Given the description of an element on the screen output the (x, y) to click on. 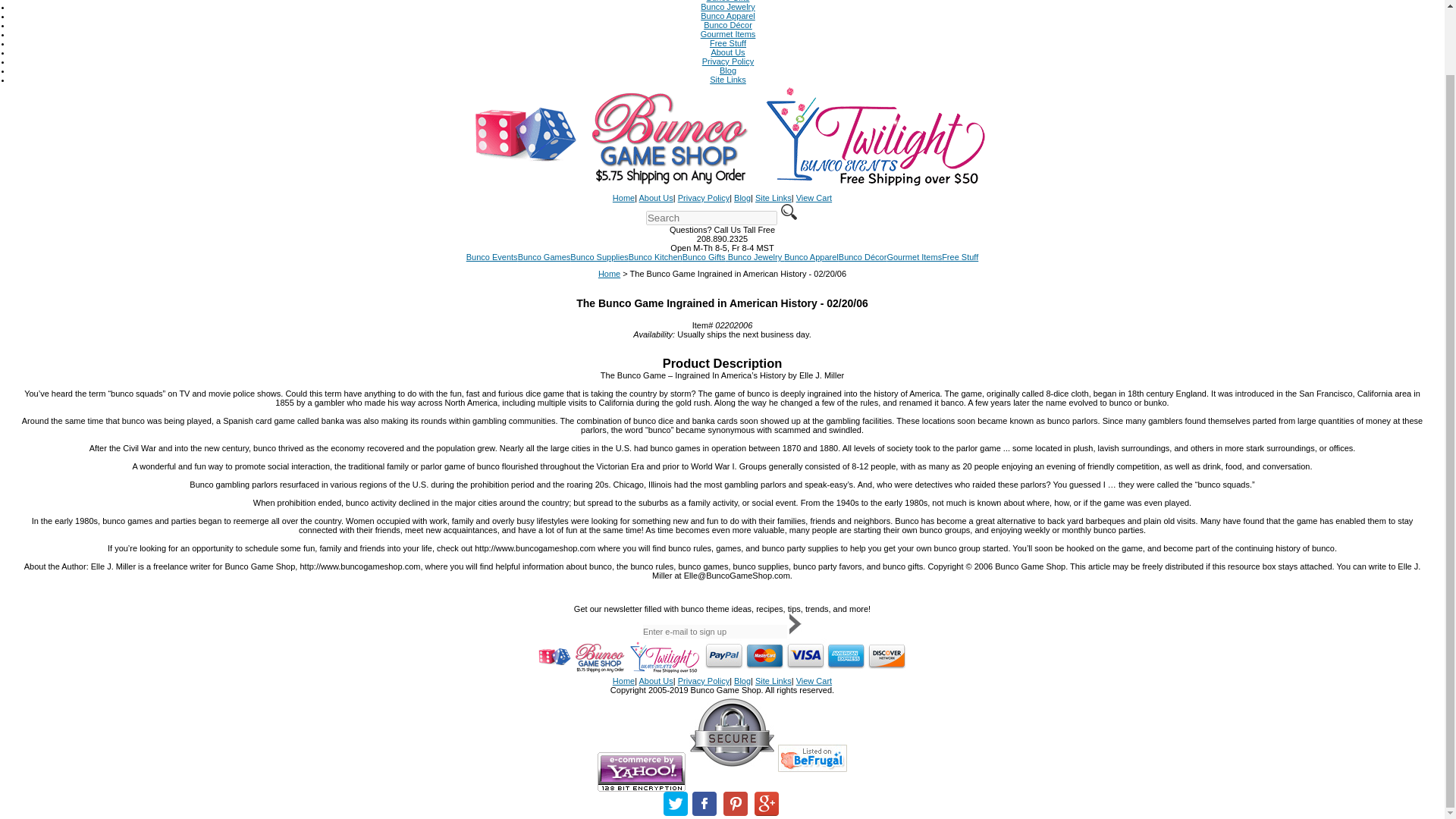
View Cart (813, 680)
Site Links (773, 680)
Free Stuff (727, 42)
Bunco Gifts (727, 1)
Bunco Supplies (598, 256)
Gourmet Items (727, 33)
Bunco Supplies (598, 256)
Bunco Apparel (727, 15)
Blog (742, 680)
 Bunco Jewelry  (727, 6)
Home (609, 273)
Bunco Gifts (703, 256)
Bunco Gifts (703, 256)
Privacy Policy (727, 61)
Bunco Kitchen (655, 256)
